Given the description of an element on the screen output the (x, y) to click on. 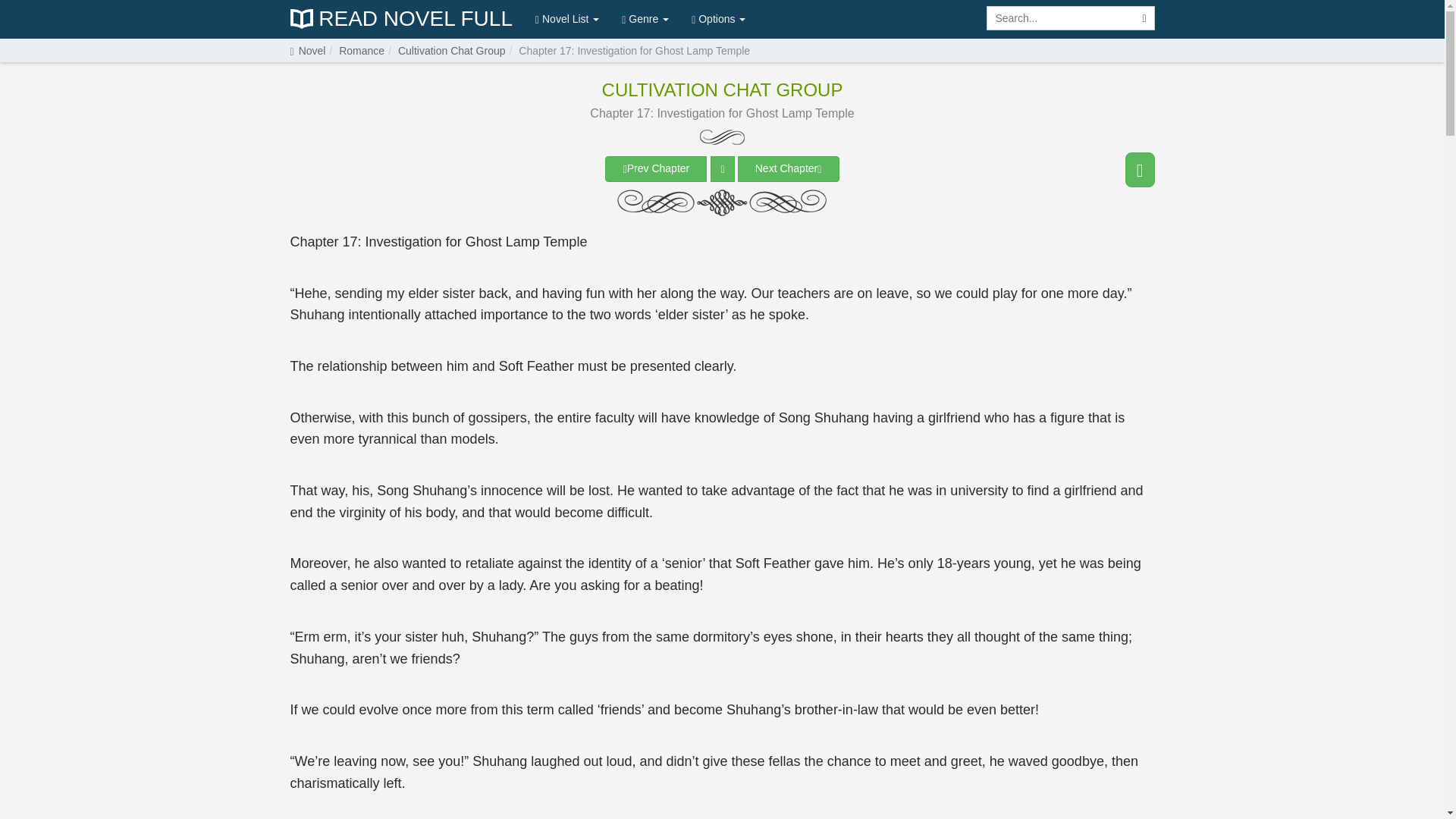
Genre (644, 18)
Read Novel Full (400, 19)
READ NOVEL FULL (400, 19)
Novel List (567, 18)
